Given the description of an element on the screen output the (x, y) to click on. 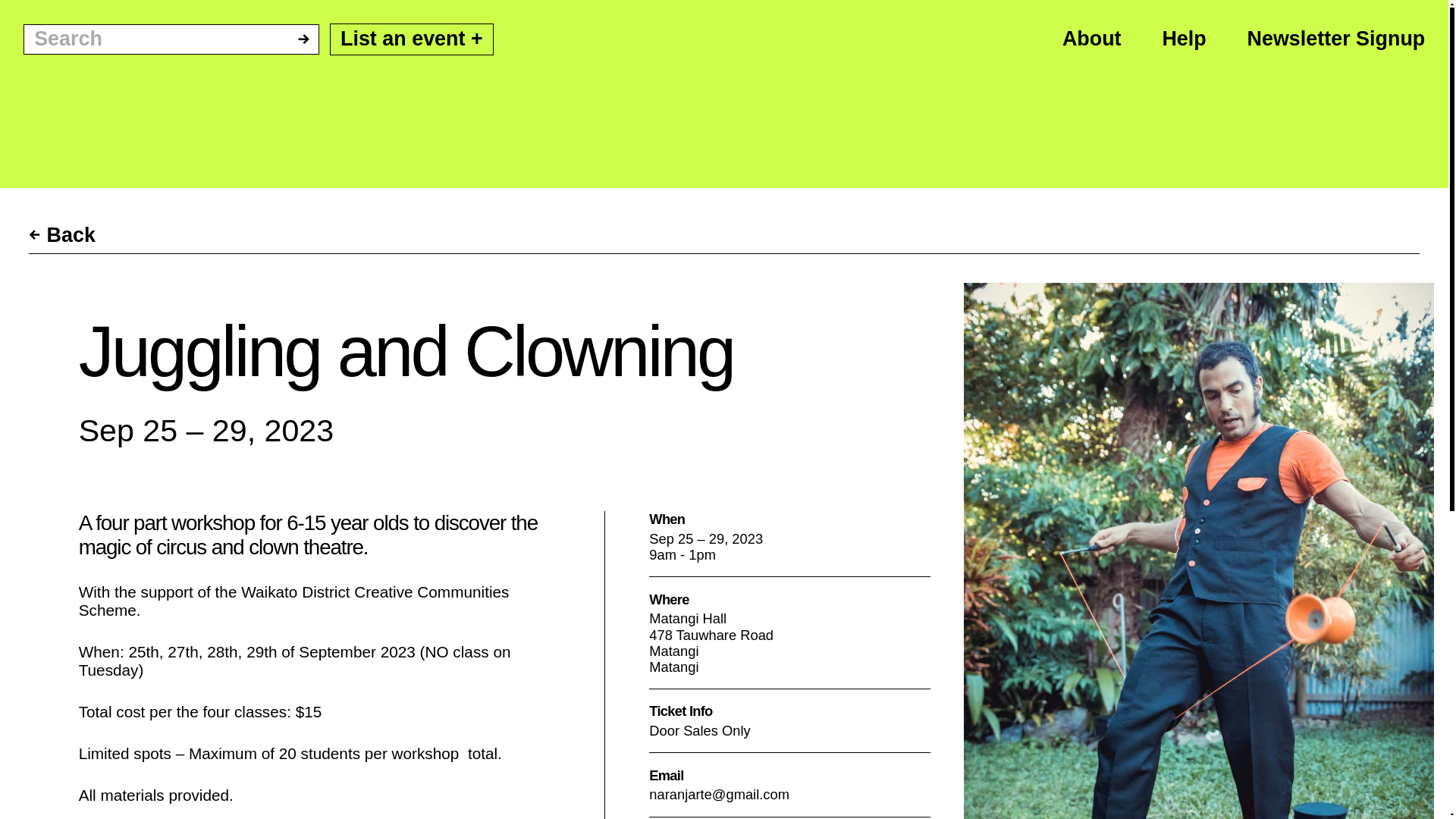
Newsletter Signup (1336, 38)
Back (62, 235)
Help (1183, 38)
About (1091, 38)
